Given the description of an element on the screen output the (x, y) to click on. 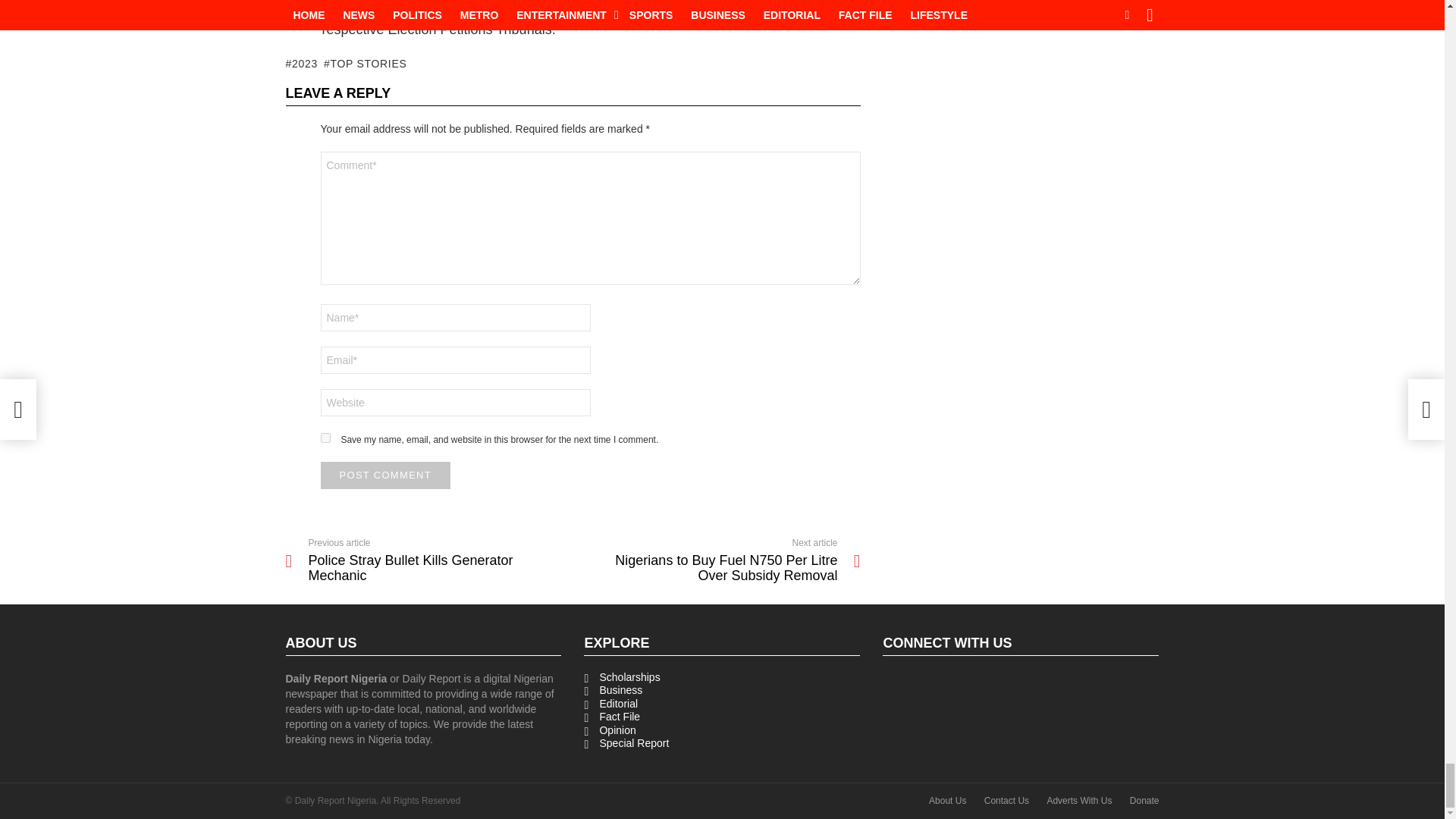
Post Comment (384, 474)
yes (325, 438)
